Given the description of an element on the screen output the (x, y) to click on. 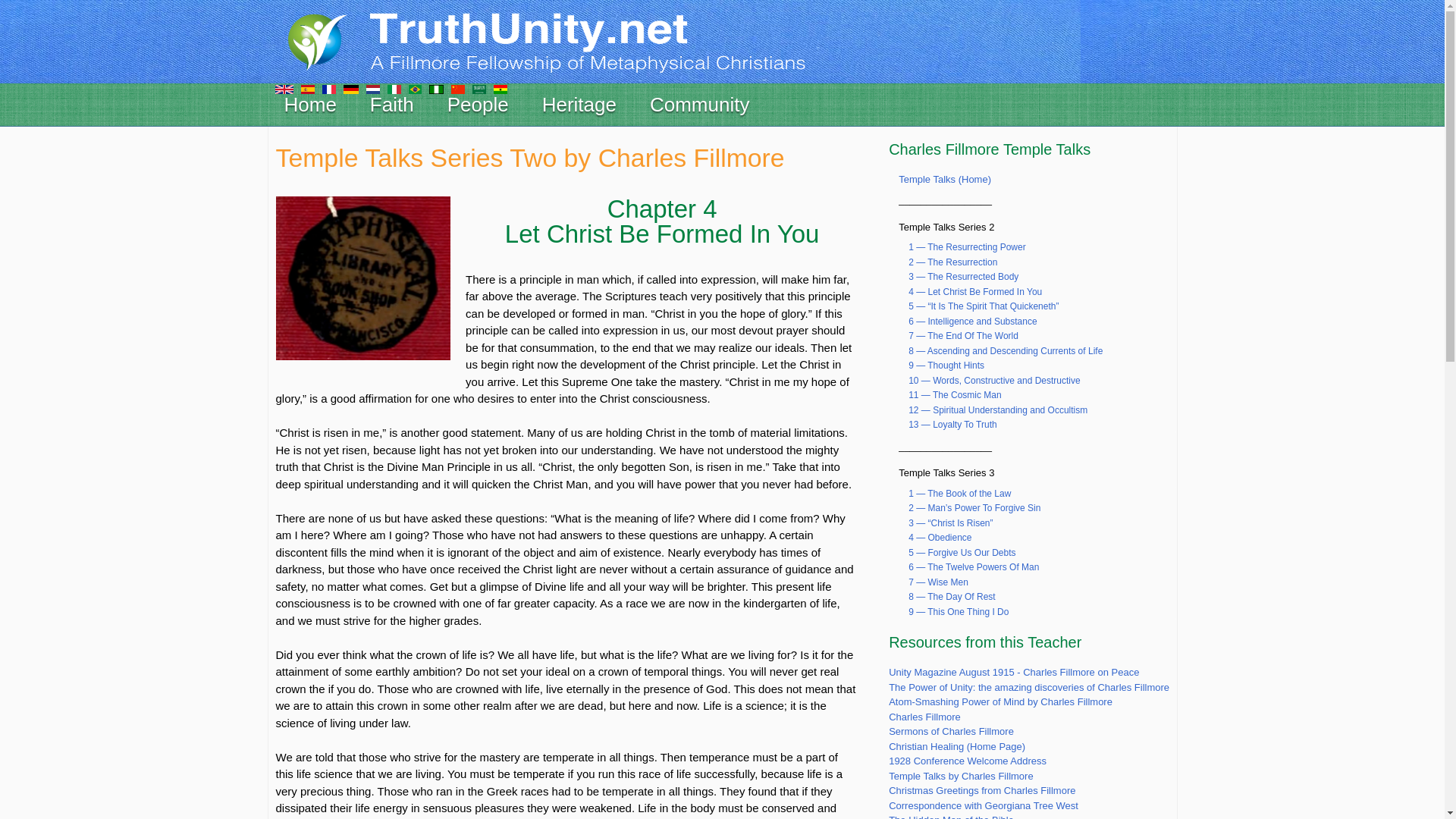
Germany (350, 88)
Nigeria (436, 88)
Ghana (499, 88)
Home (310, 104)
Home (569, 39)
Arabic (477, 88)
People (477, 104)
Spanish (306, 88)
Italy (393, 88)
France (327, 88)
China (456, 88)
Community Funded Translations (283, 88)
Netherlands (371, 88)
